Given the description of an element on the screen output the (x, y) to click on. 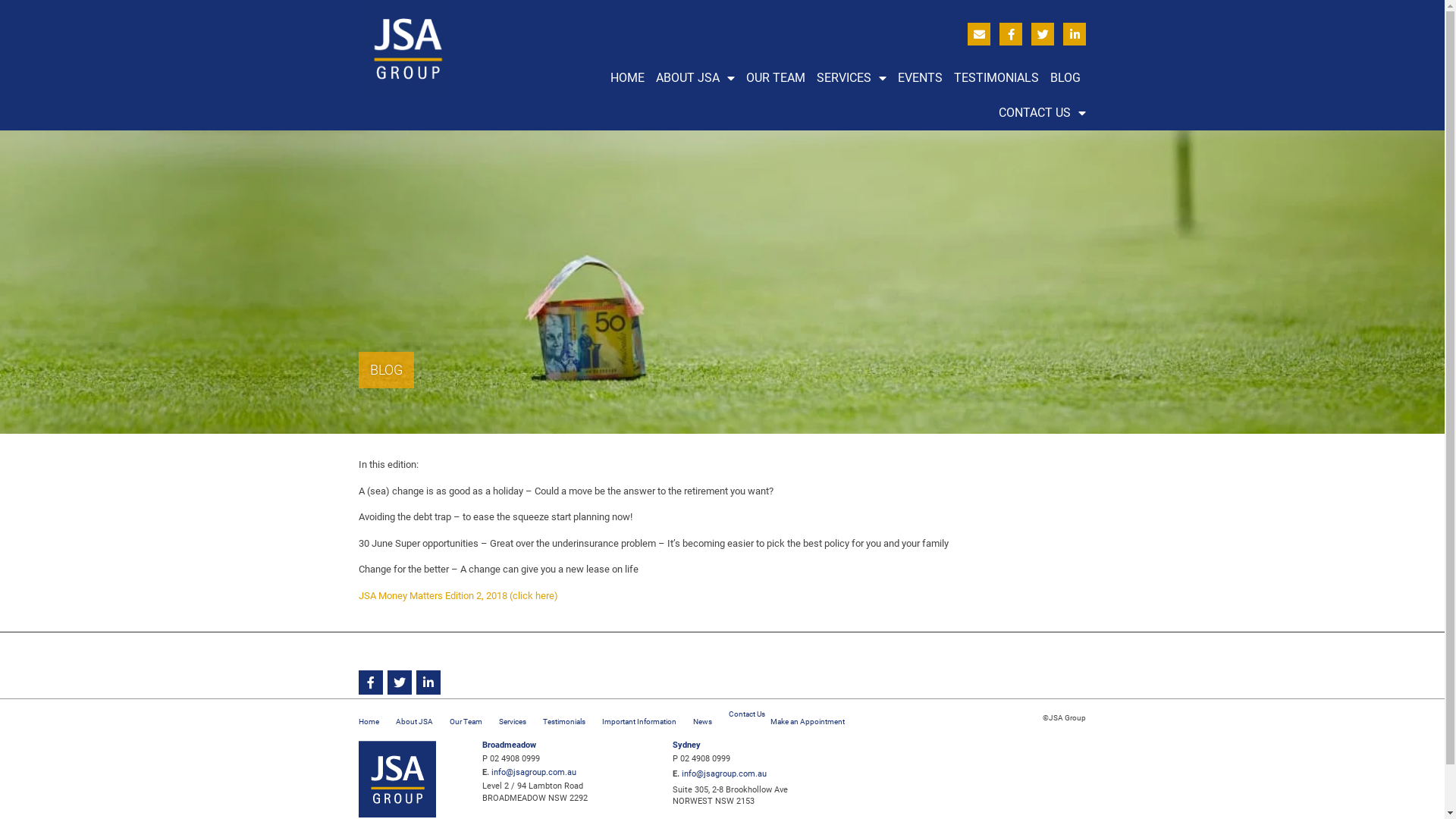
Testimonials Element type: text (563, 721)
OUR TEAM Element type: text (775, 77)
Home Element type: text (367, 721)
info@jsagroup.com.au Element type: text (723, 773)
Make an Appointment Element type: text (807, 721)
Services Element type: text (512, 721)
info@jsagroup.com.au Element type: text (533, 772)
EVENTS Element type: text (919, 77)
HOME Element type: text (627, 77)
BLOG Element type: text (1065, 77)
TESTIMONIALS Element type: text (995, 77)
SERVICES Element type: text (851, 77)
ABOUT JSA Element type: text (694, 77)
CONTACT US Element type: text (1041, 112)
Contact Us Element type: text (746, 713)
About JSA Element type: text (414, 721)
Our Team Element type: text (464, 721)
JSA Money Matters Edition 2, 2018 (click here) Element type: text (457, 595)
News Element type: text (702, 721)
Important Information Element type: text (639, 721)
